Given the description of an element on the screen output the (x, y) to click on. 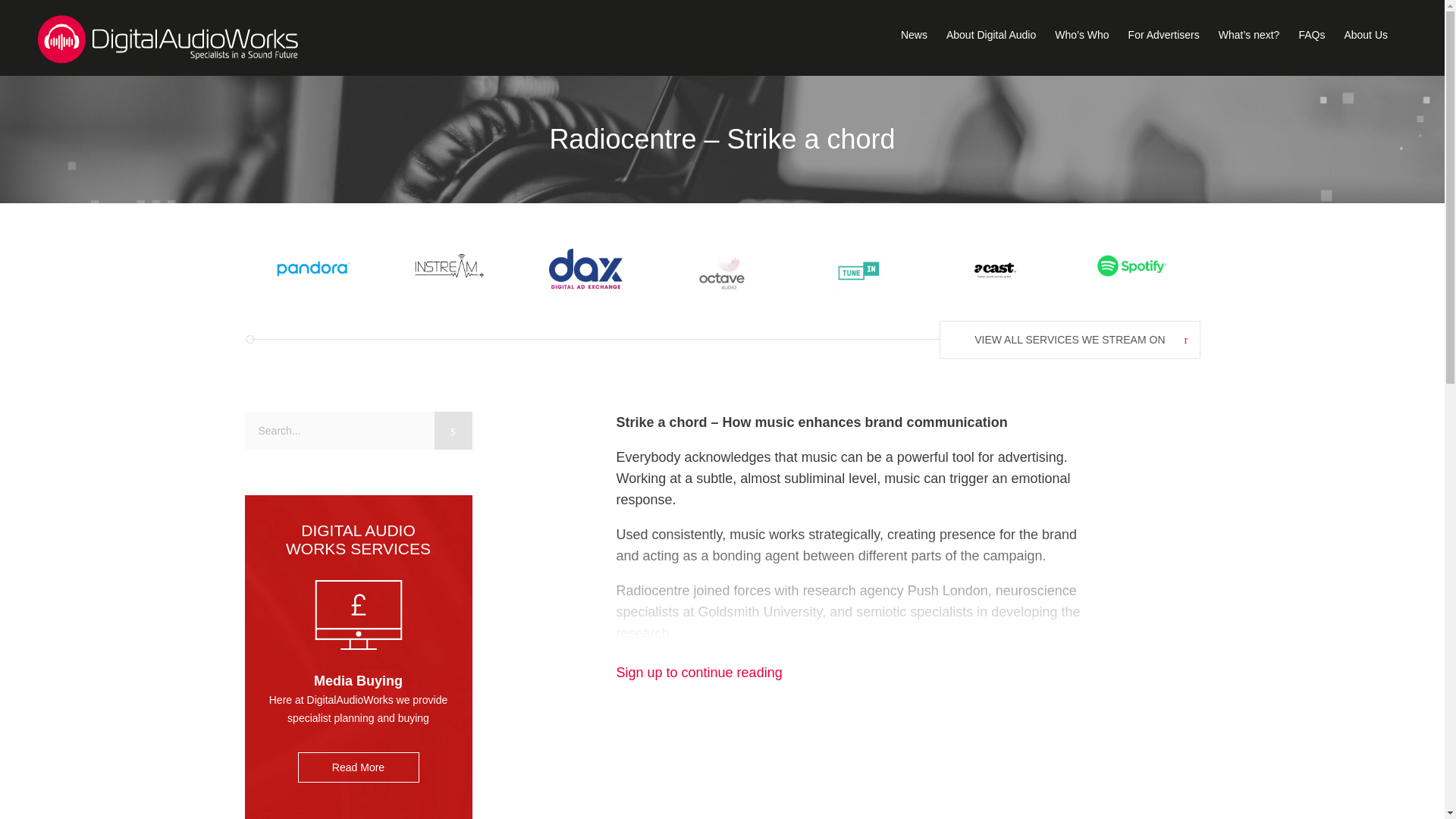
News (914, 34)
FAQs (1311, 34)
For Advertisers (1163, 34)
About Digital Audio (990, 34)
Search (452, 430)
s (452, 430)
About Us (1365, 34)
s (452, 430)
